Given the description of an element on the screen output the (x, y) to click on. 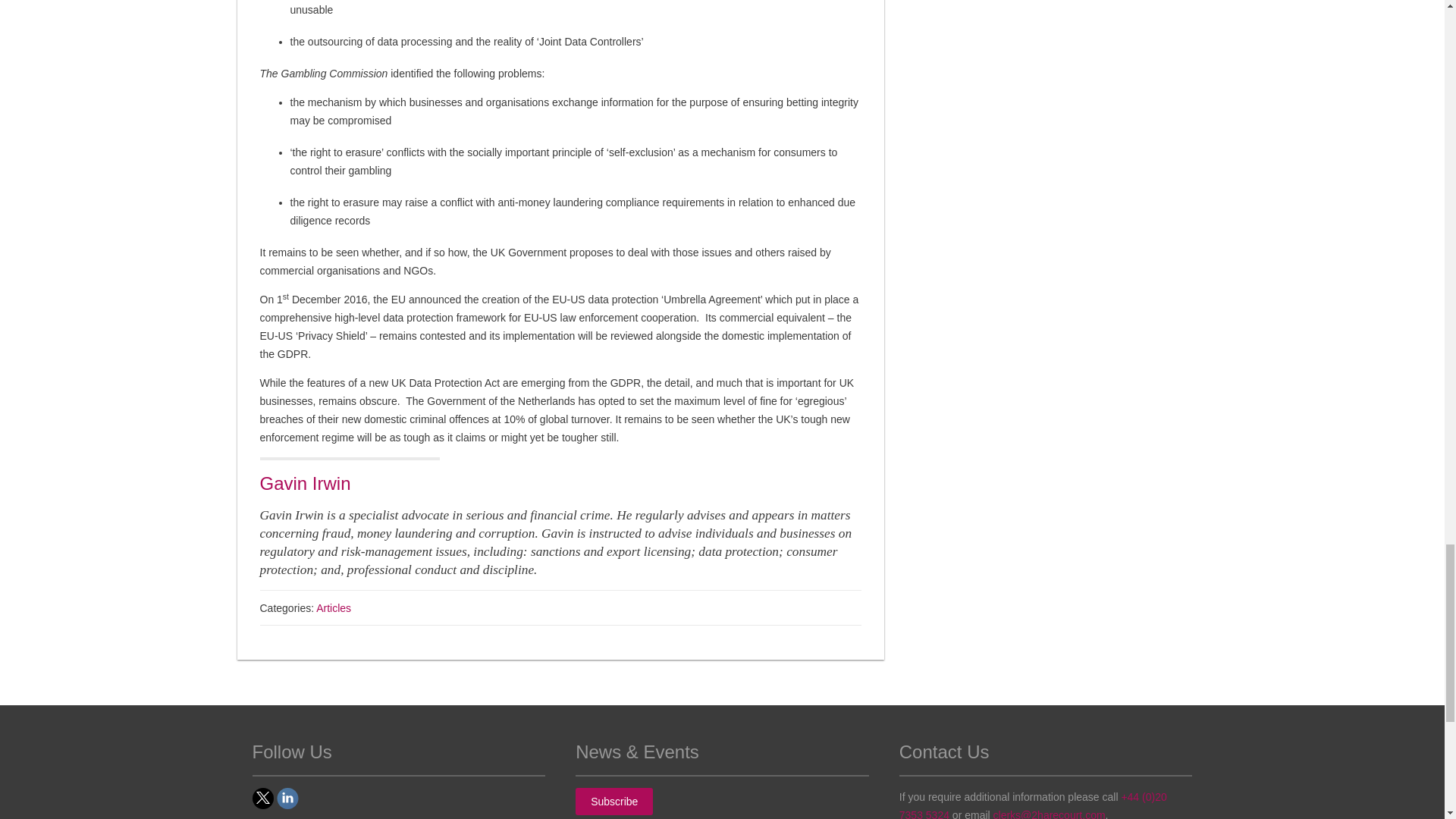
View all posts in Articles (332, 607)
